Given the description of an element on the screen output the (x, y) to click on. 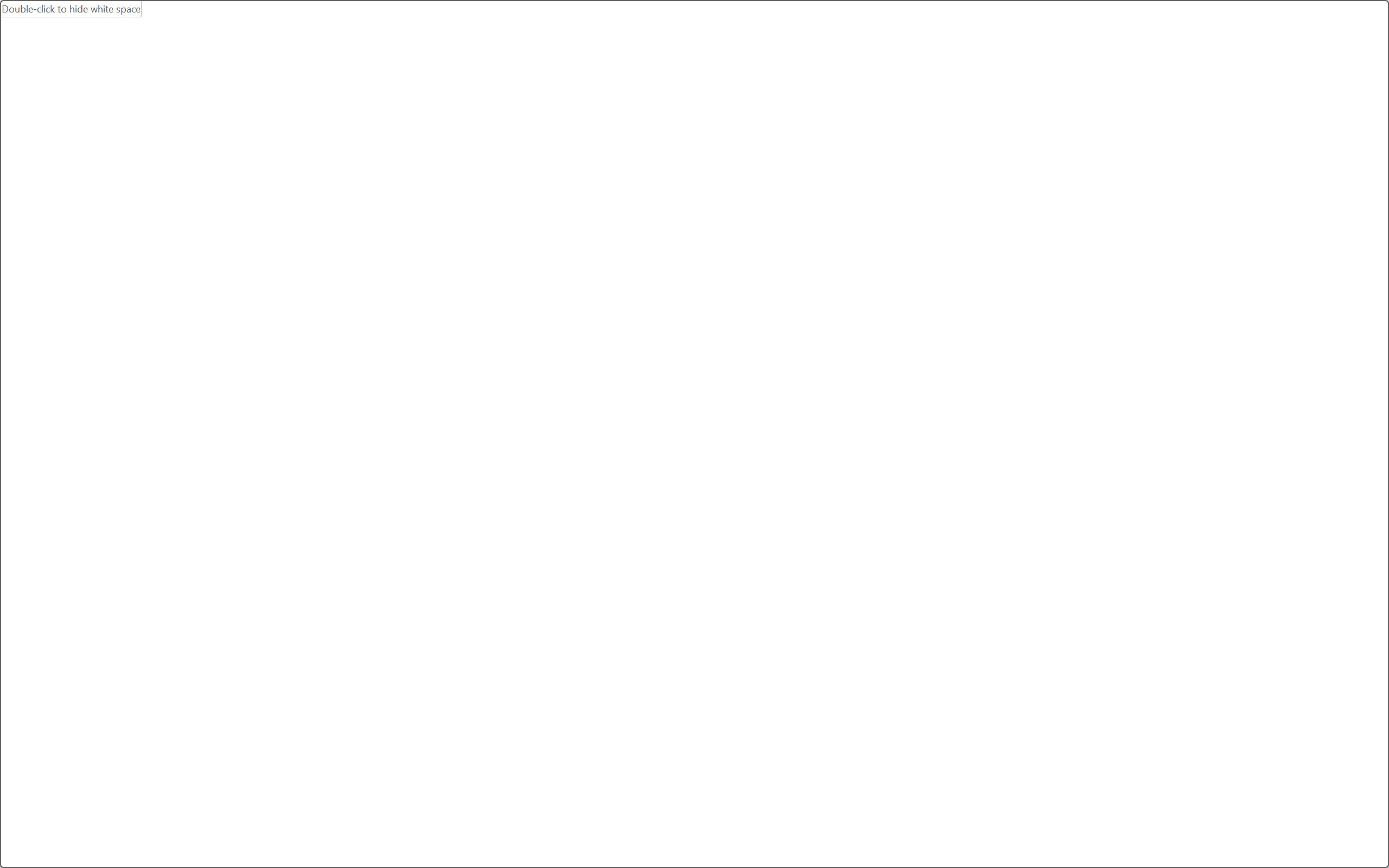
Text Effects and Typography (241, 108)
AutomationID: QuickStylesGallery (802, 97)
Spelling and Grammar Check Checking (126, 819)
Change Case (284, 82)
solar winds (551, 578)
Font Color (308, 108)
harbor life (575, 433)
Earth's crust (653, 465)
Undo Paste Destination Formatting (158, 19)
Italic (115, 108)
Sort... (571, 82)
